Given the description of an element on the screen output the (x, y) to click on. 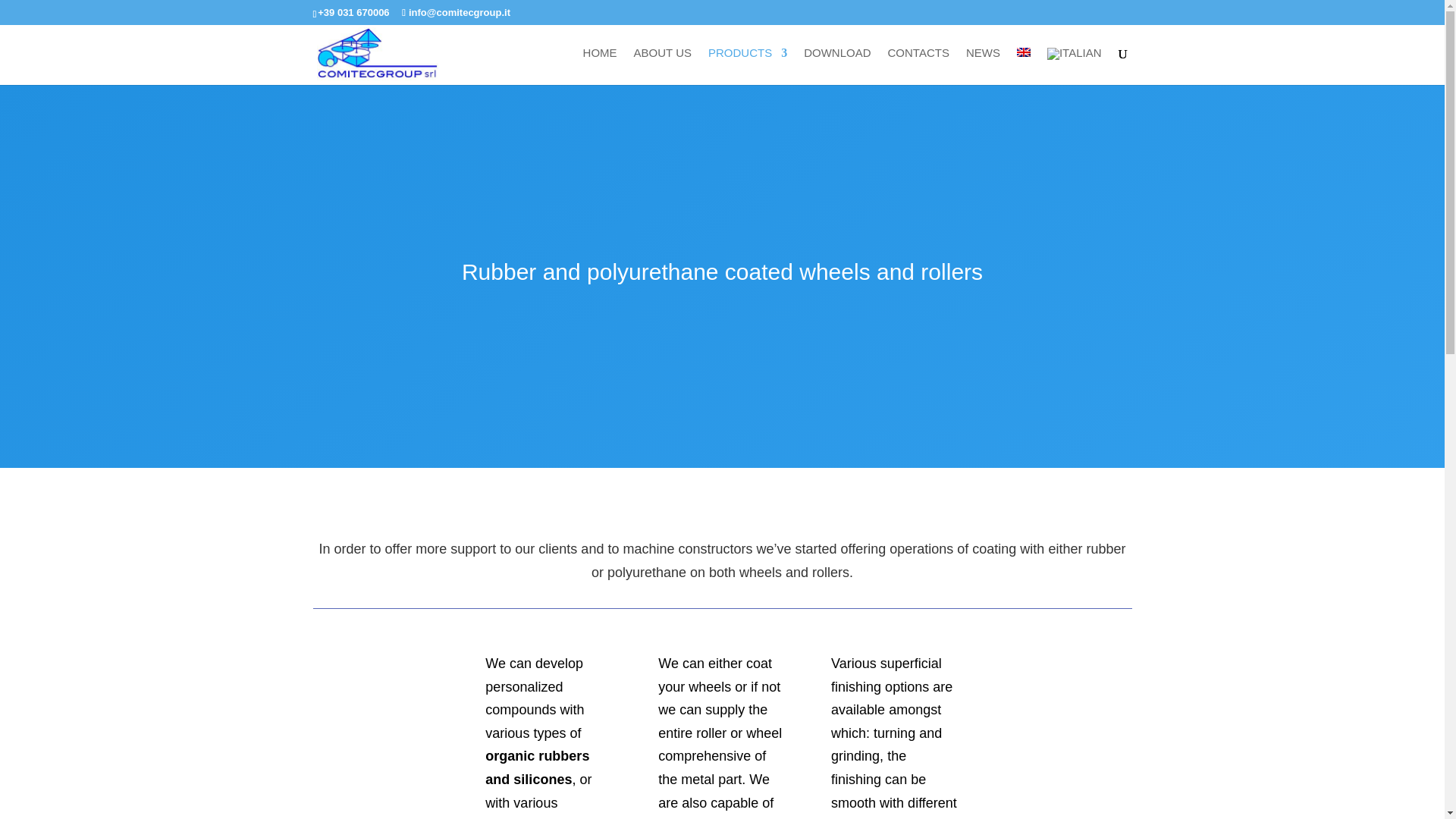
NEWS (983, 65)
PRODUCTS (747, 65)
ABOUT US (662, 65)
DOWNLOAD (836, 65)
HOME (600, 65)
CONTACTS (918, 65)
